Given the description of an element on the screen output the (x, y) to click on. 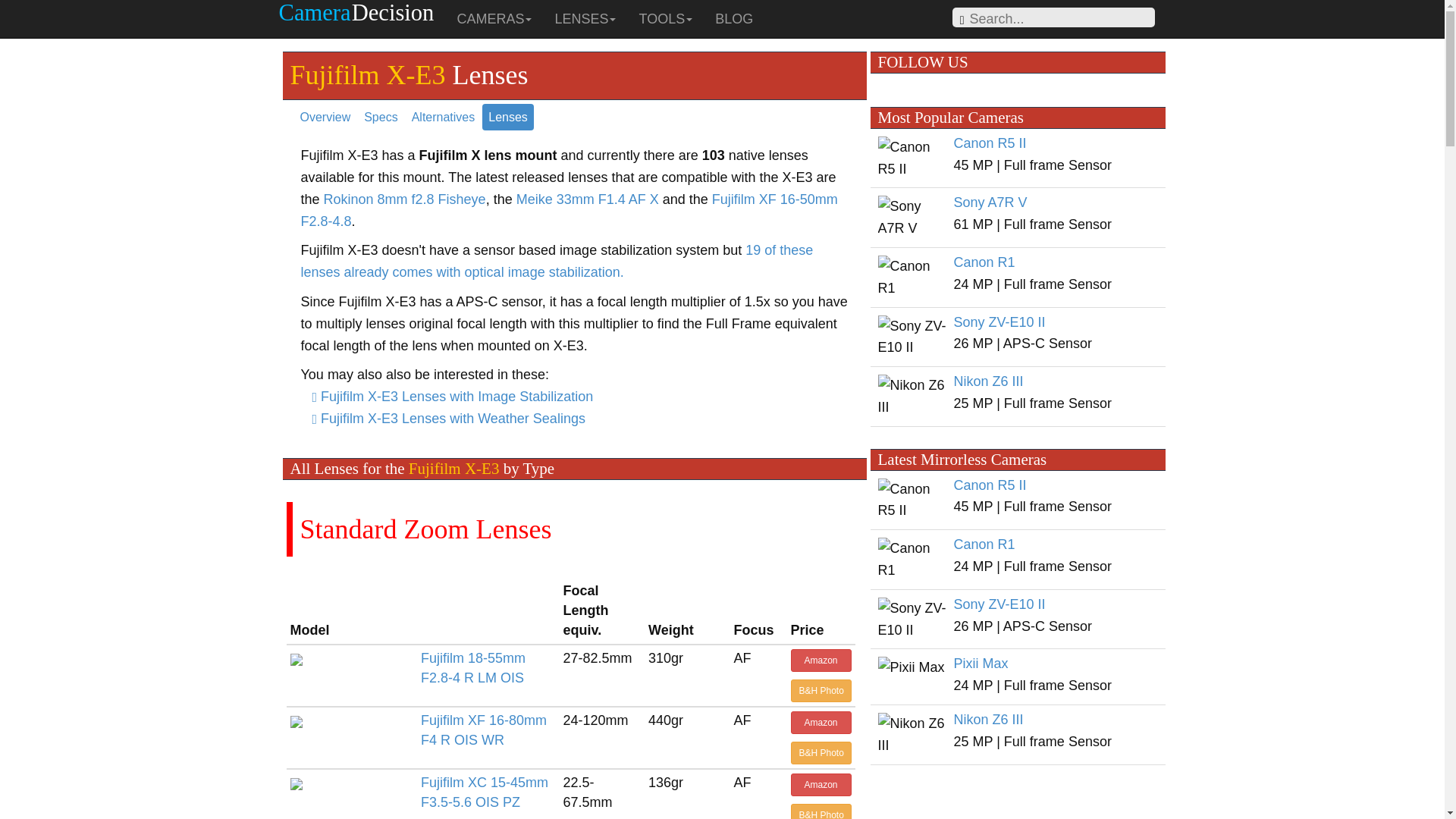
LENSES (585, 18)
CAMERAS (494, 18)
CameraDecision (361, 18)
